Given the description of an element on the screen output the (x, y) to click on. 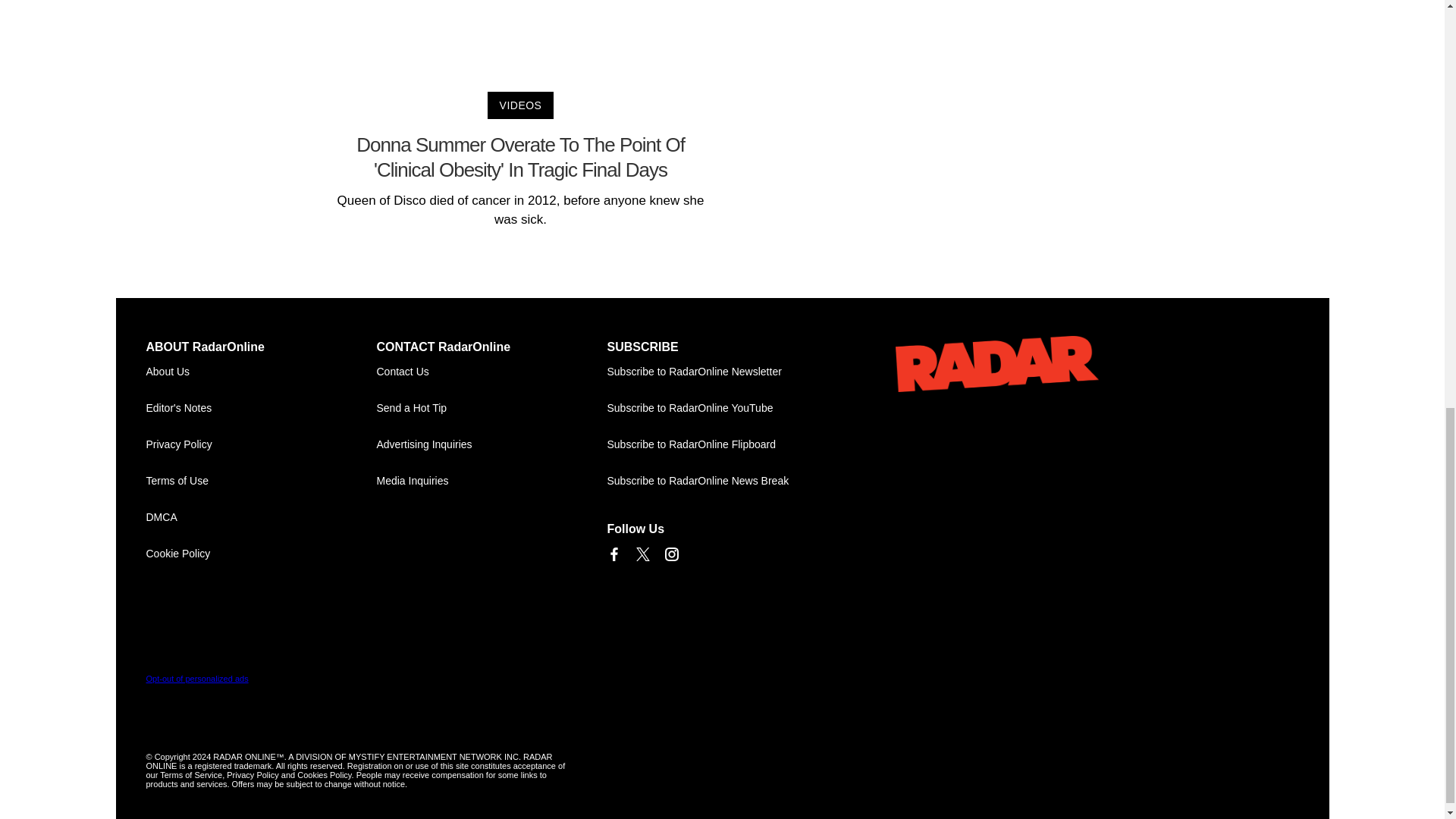
Contact Us (491, 371)
Editor's Notes (260, 408)
Advertising Inquiries (491, 444)
Link to Facebook (613, 554)
Opt-out of personalized ads (196, 678)
DMCA (260, 517)
Cookie Policy (260, 554)
Terms of Use (260, 481)
Subscribe to RadarOnline on YouTube (722, 408)
DMCA (260, 517)
Subscribe to RadarOnline YouTube (722, 408)
Subscribe to RadarOnline Flipboard (722, 444)
Send a Hot Tip (491, 408)
Cookie Policy (260, 554)
Subscribe to RadarOnline Newsletter (722, 371)
